Given the description of an element on the screen output the (x, y) to click on. 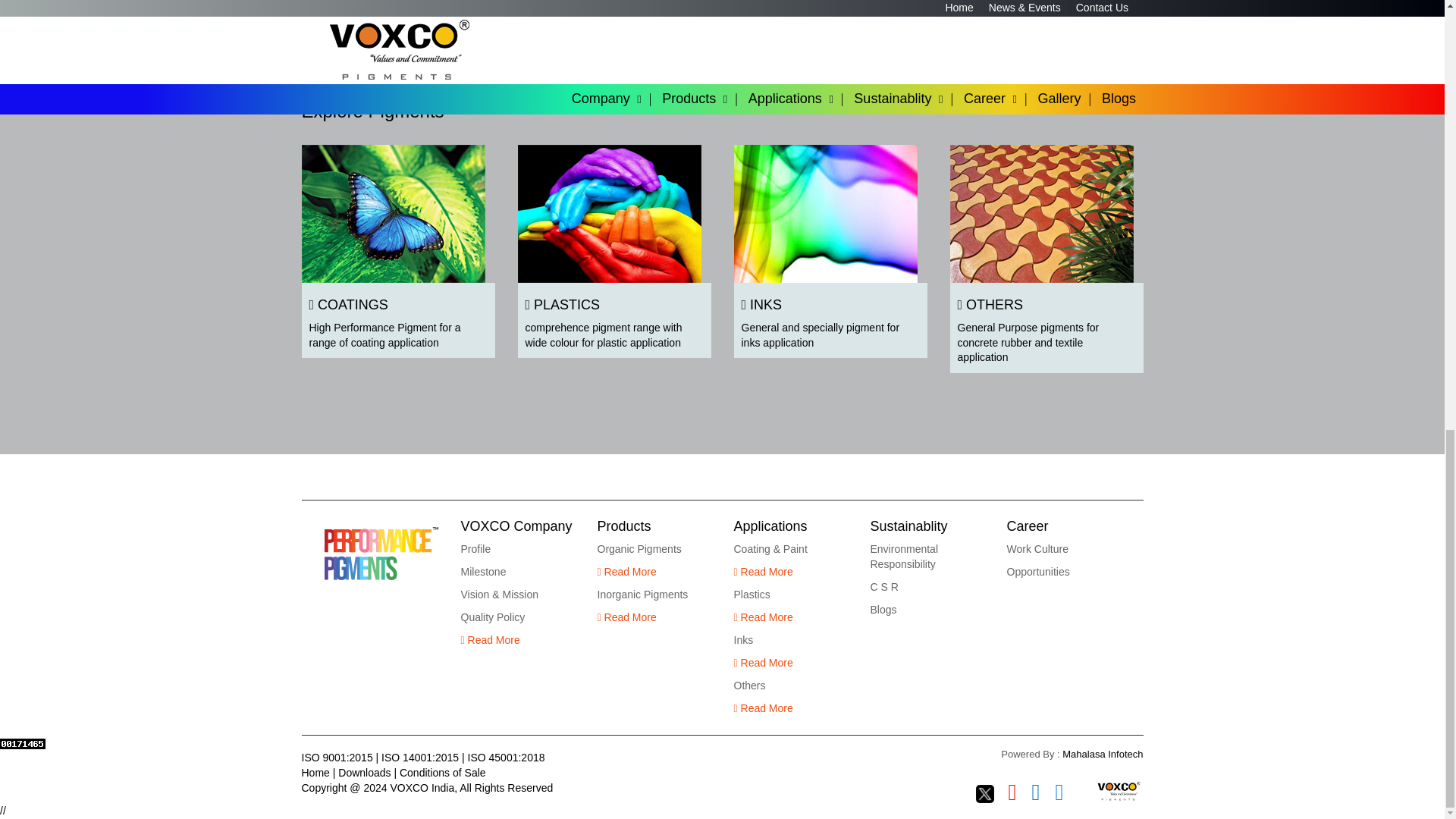
Blogs (883, 609)
Blogs (1064, 526)
